Given the description of an element on the screen output the (x, y) to click on. 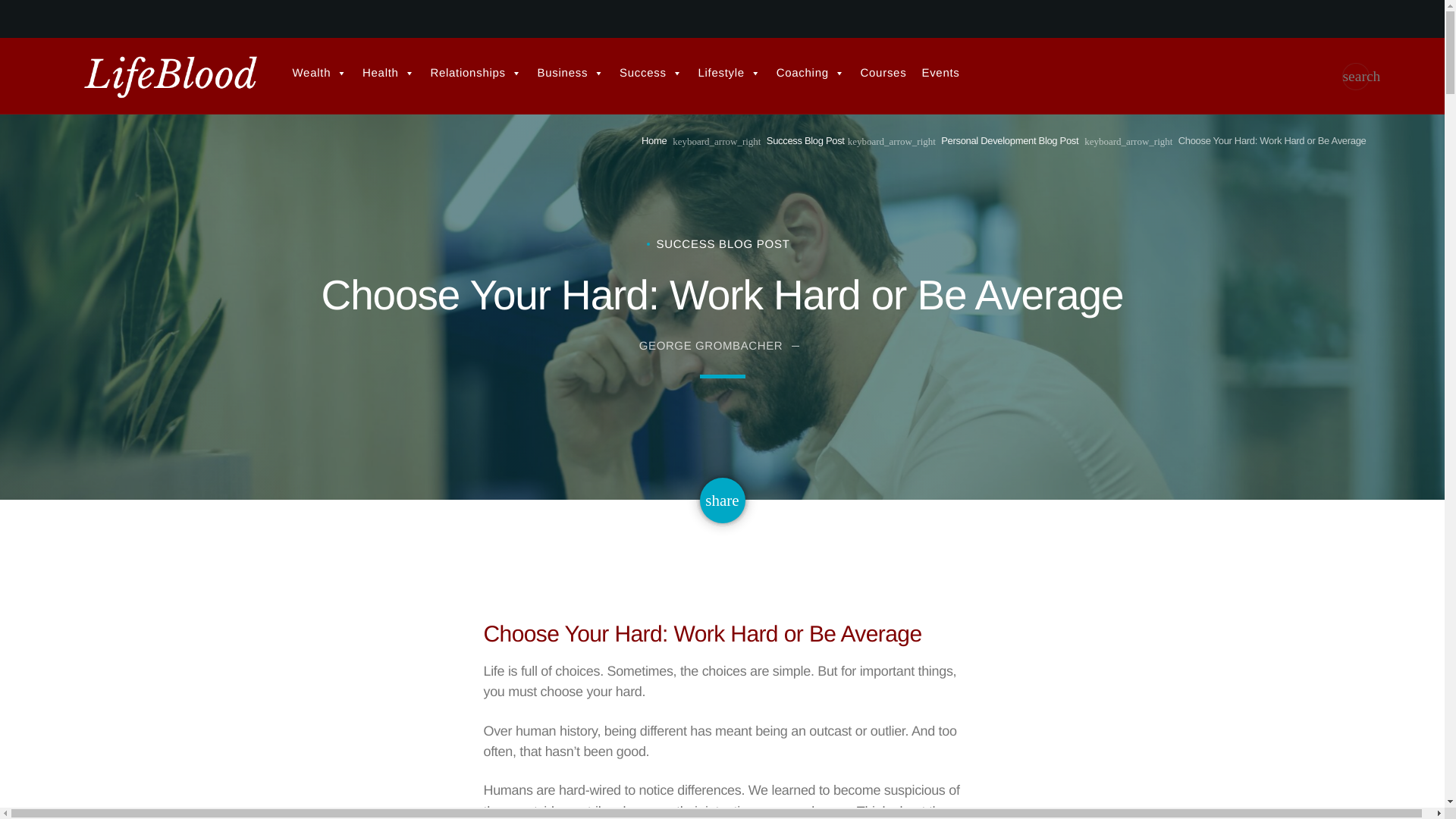
Business (570, 73)
Success (650, 73)
Wealth (320, 73)
Lifestyle (729, 73)
Relationships (475, 73)
Health (388, 73)
